Given the description of an element on the screen output the (x, y) to click on. 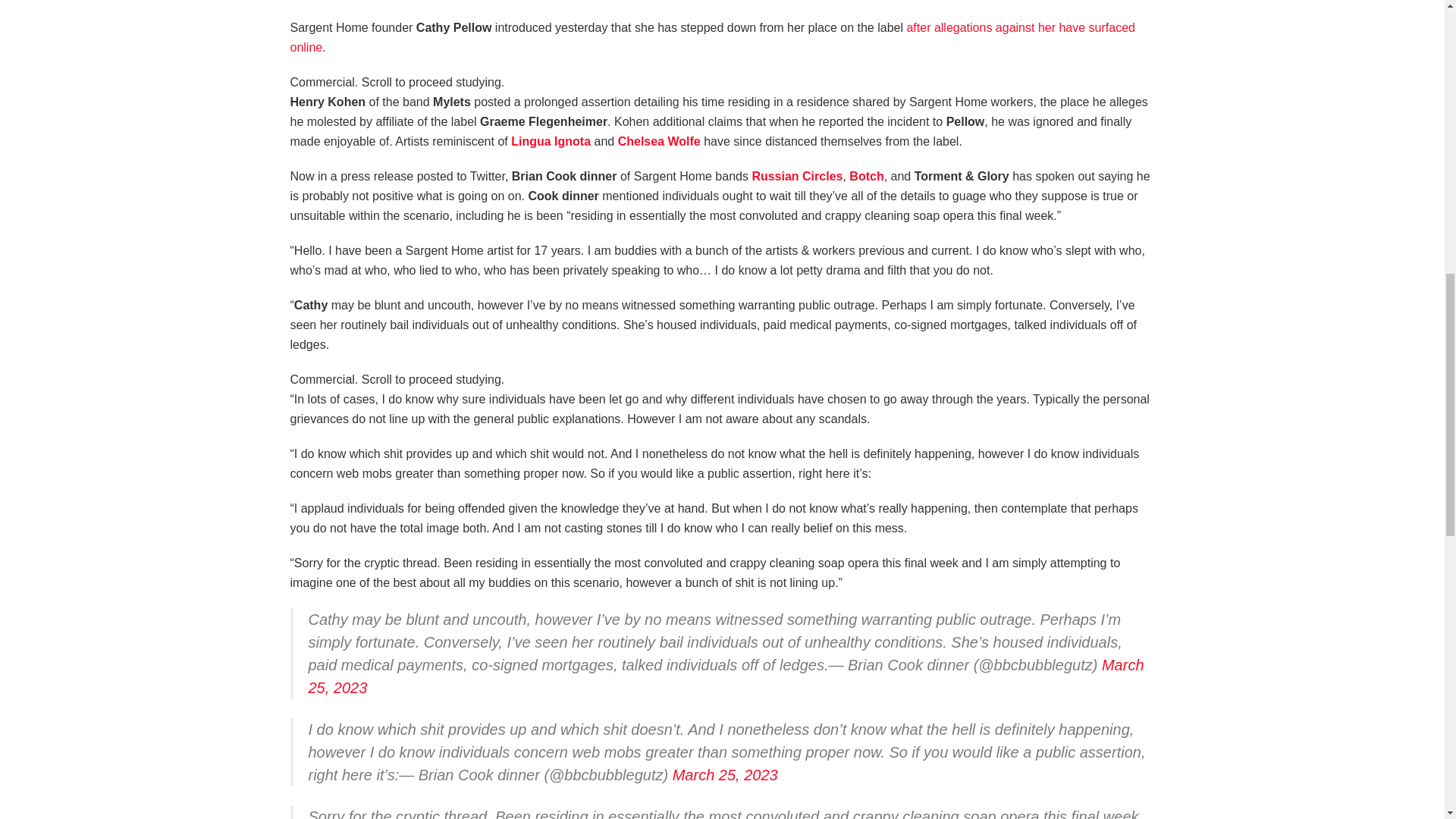
March 25, 2023 (724, 676)
Russian Circles (797, 175)
after allegations against her have surfaced online (711, 37)
Botch (865, 175)
March 25, 2023 (724, 774)
Chelsea Wolfe (658, 141)
Lingua Ignota (551, 141)
